Given the description of an element on the screen output the (x, y) to click on. 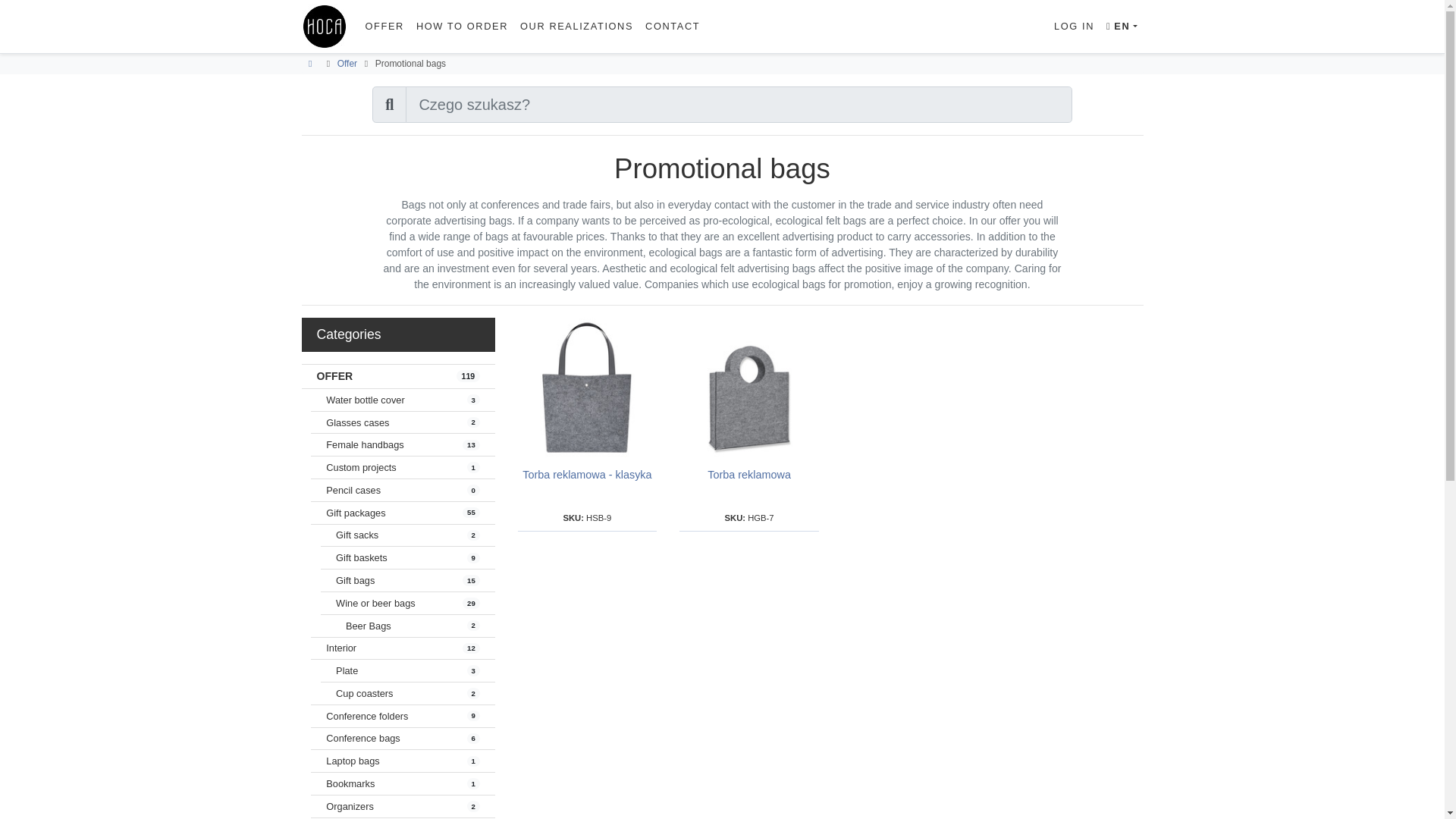
Offer (364, 693)
EN (346, 63)
